Given the description of an element on the screen output the (x, y) to click on. 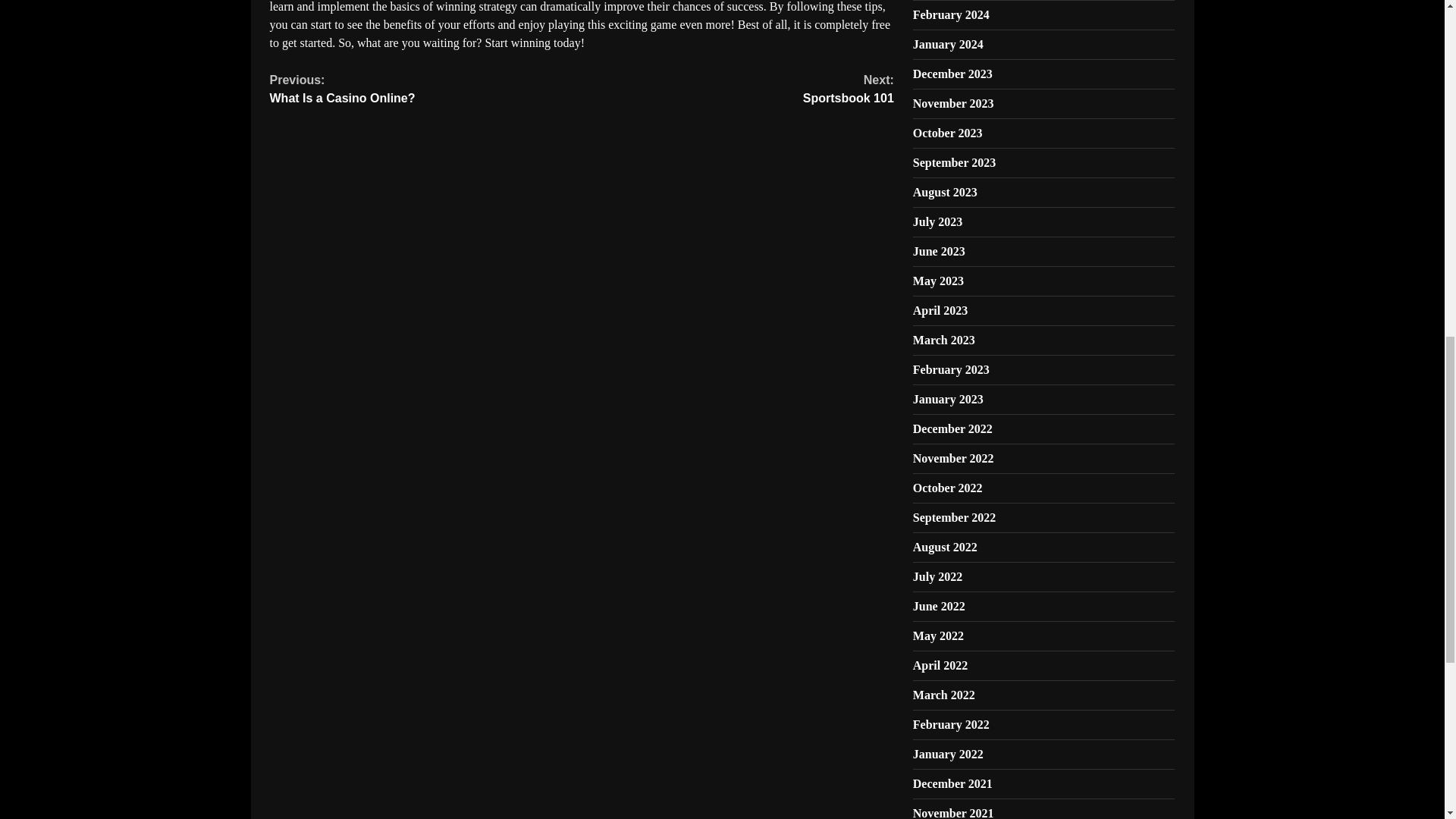
August 2023 (944, 192)
March 2023 (943, 339)
January 2023 (948, 399)
December 2023 (952, 73)
April 2023 (940, 309)
May 2023 (937, 280)
September 2023 (953, 162)
November 2023 (953, 103)
June 2023 (938, 250)
